Given the description of an element on the screen output the (x, y) to click on. 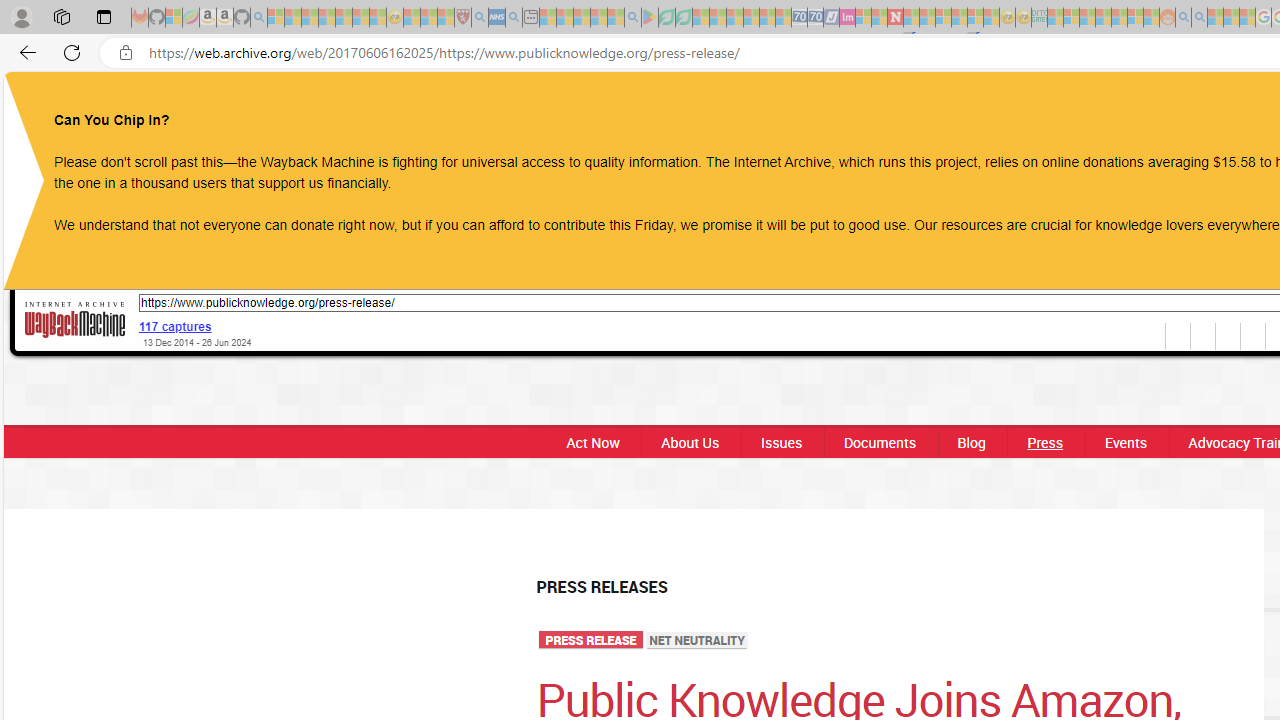
Blog (971, 442)
